Given the description of an element on the screen output the (x, y) to click on. 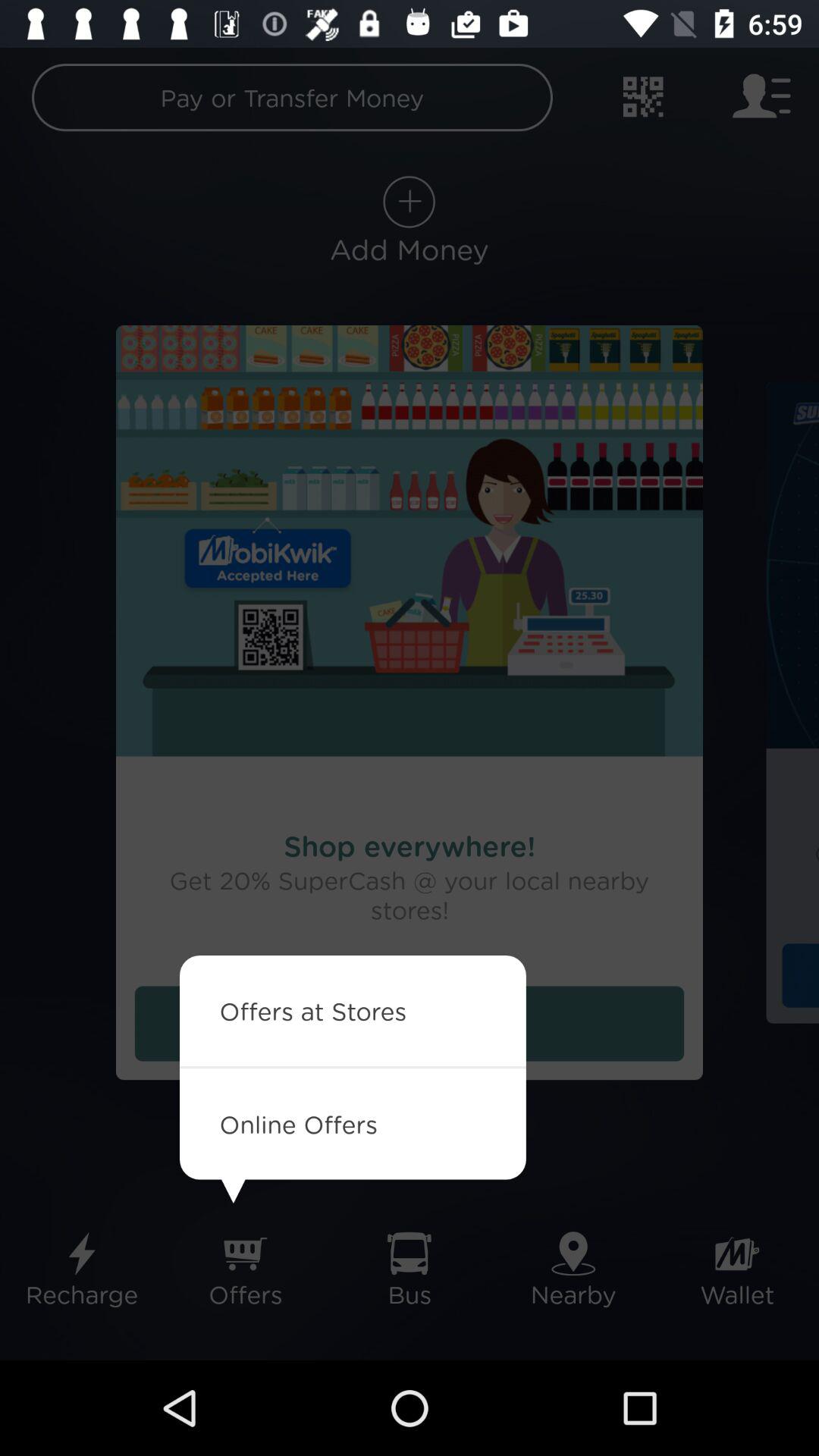
select the text which is above online offers (409, 1024)
